Given the description of an element on the screen output the (x, y) to click on. 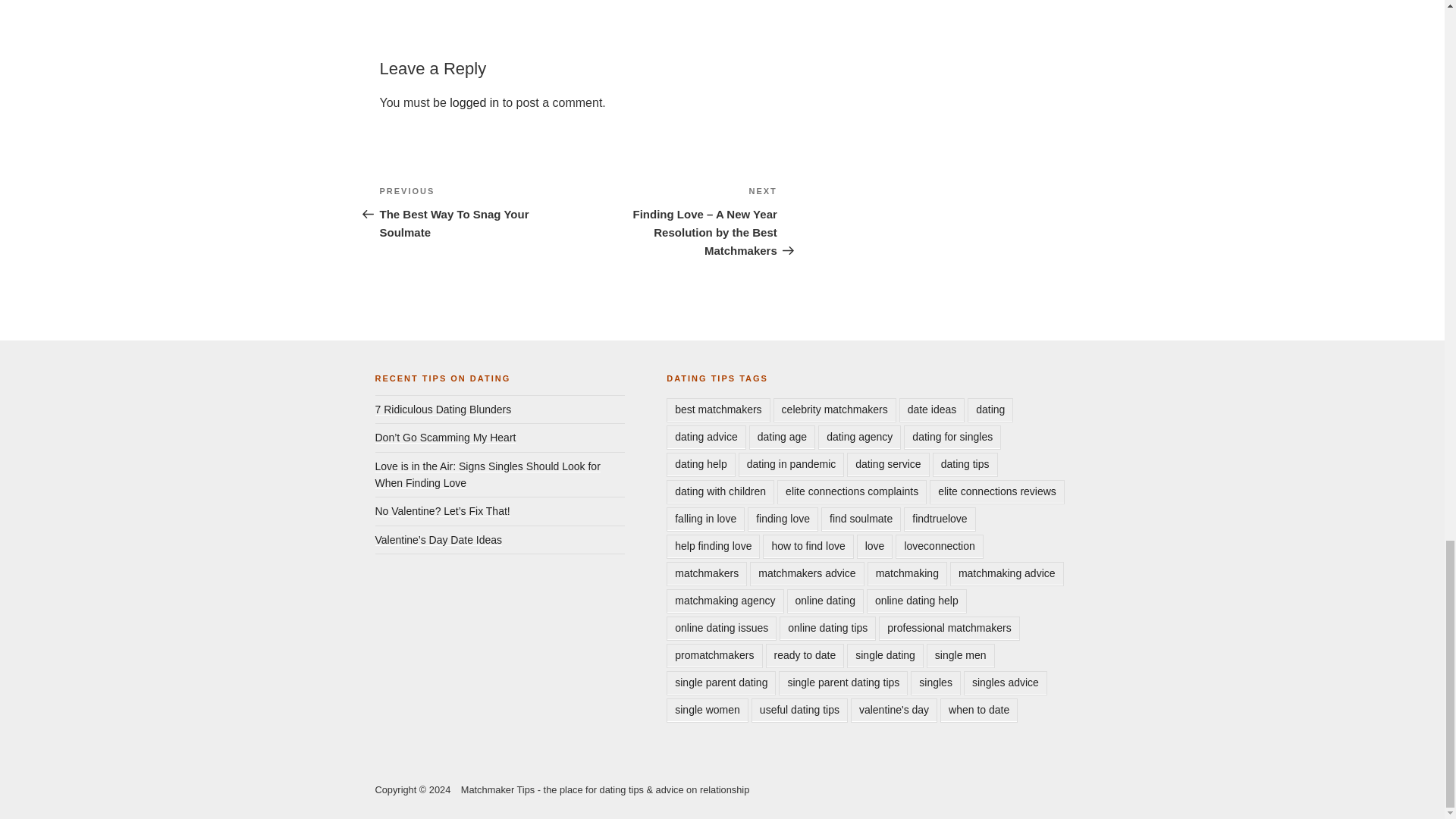
logged in (478, 212)
